Given the description of an element on the screen output the (x, y) to click on. 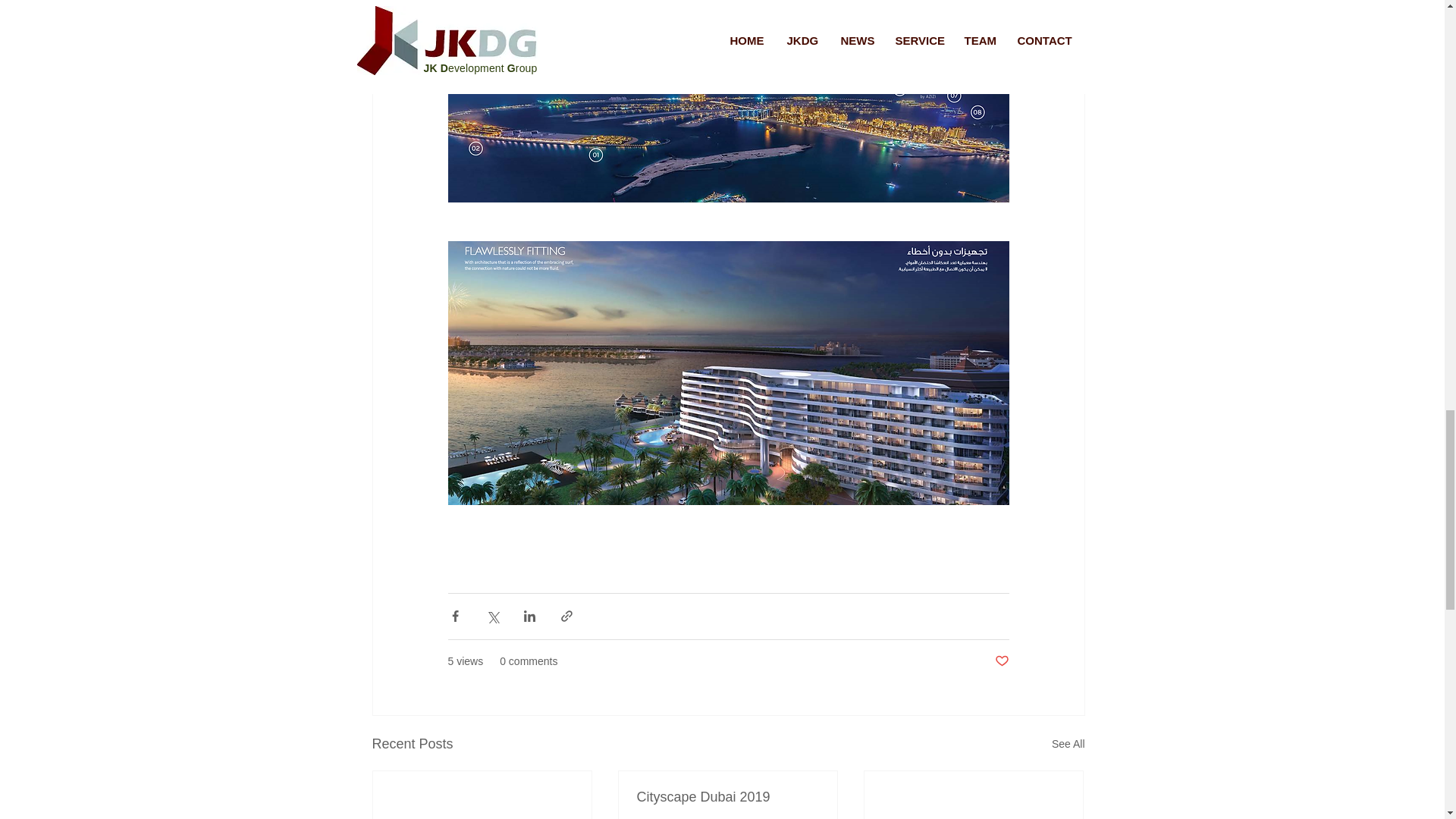
Post not marked as liked (1001, 661)
Cityscape Dubai 2019 (727, 797)
See All (1067, 744)
